Given the description of an element on the screen output the (x, y) to click on. 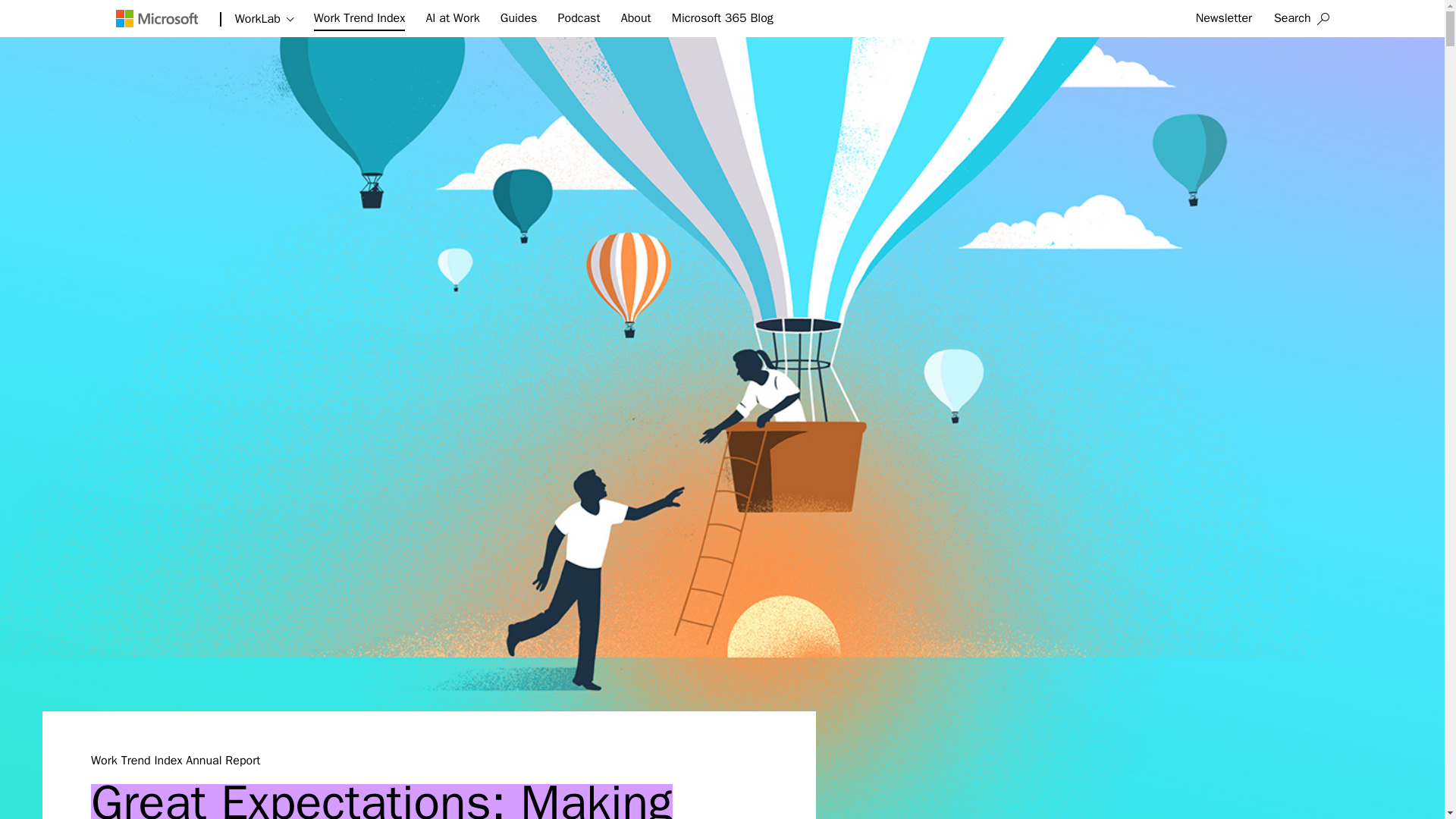
Search (1301, 18)
AI at Work (452, 17)
About (635, 17)
Guides (518, 17)
Podcast (578, 17)
Newsletter (1223, 17)
Search (1301, 18)
Work Trend Index (359, 20)
Microsoft 365 Blog (722, 17)
WorkLab (264, 19)
